Given the description of an element on the screen output the (x, y) to click on. 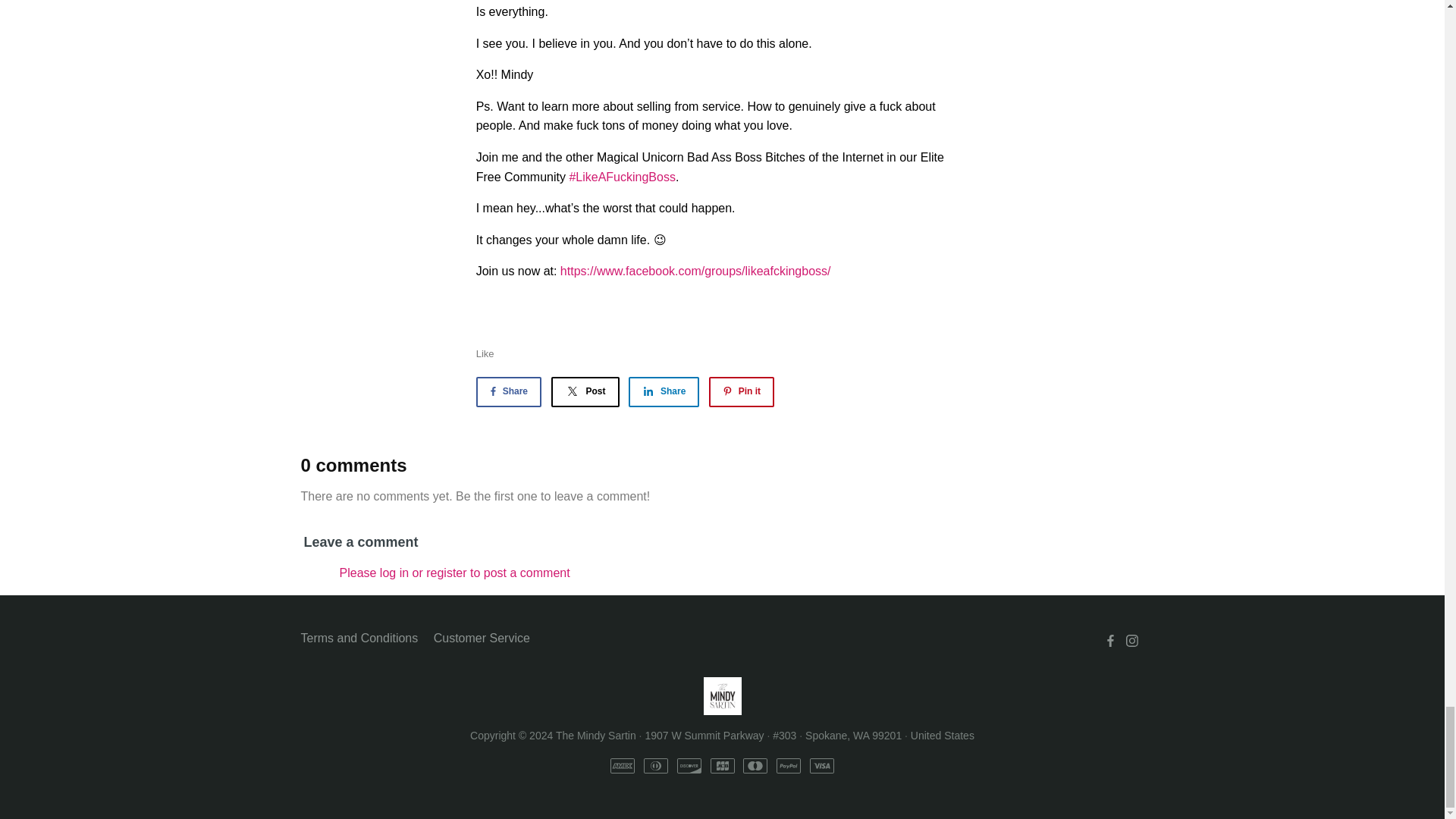
Pin on Pinterest (741, 391)
Post on X (584, 391)
Post (584, 391)
Customer Service (481, 638)
Instagram (1130, 640)
Please log in or register to post a comment (454, 572)
Terms and Conditions (358, 638)
Share (663, 391)
Share on Facebook (508, 391)
Like (485, 353)
Share on LinkedIn (663, 391)
Pin it (741, 391)
Share (508, 391)
